Given the description of an element on the screen output the (x, y) to click on. 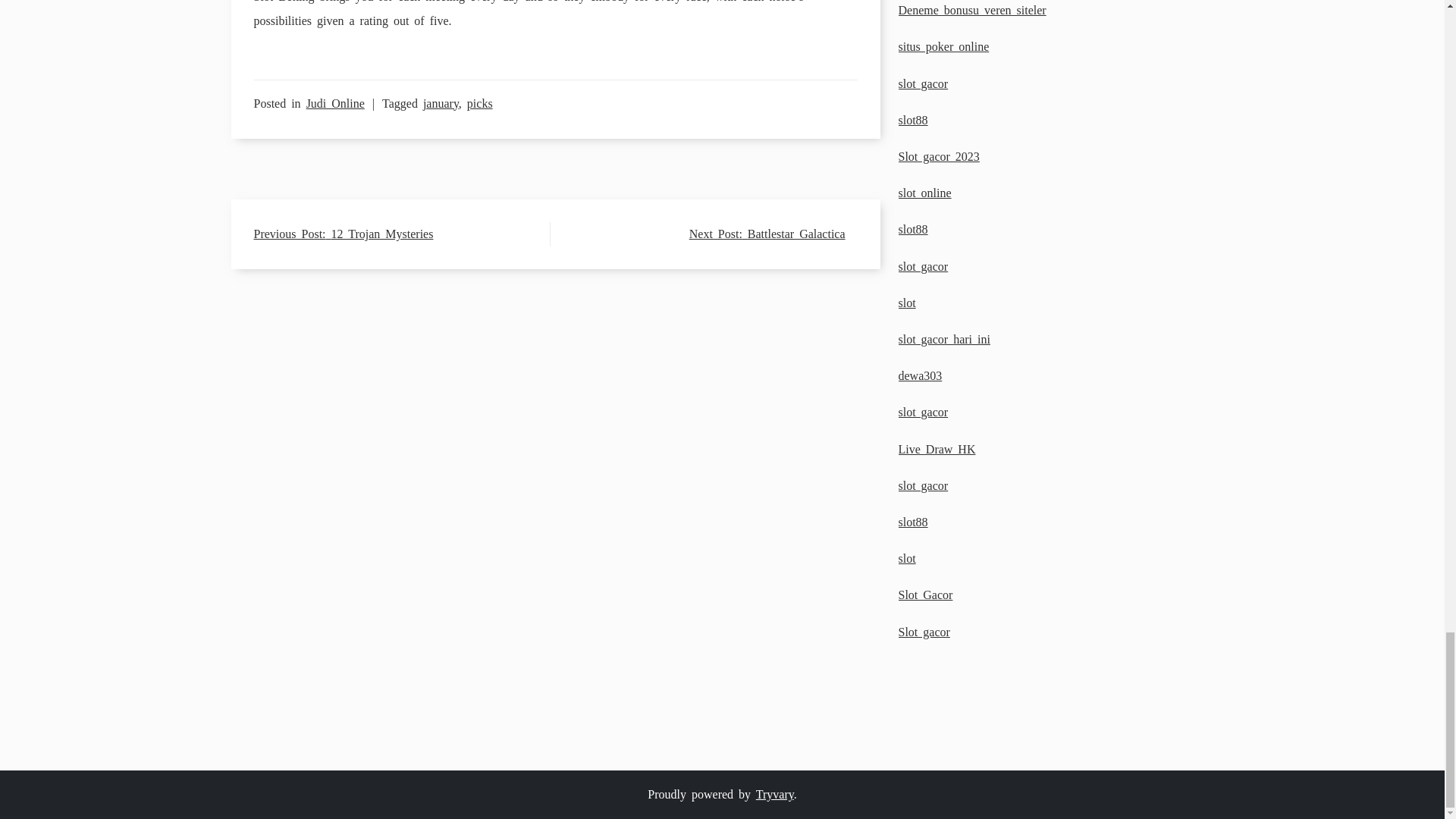
Next Post: Battlestar Galactica (766, 233)
picks (480, 103)
Previous Post: 12 Trojan Mysteries (342, 233)
january (440, 103)
Judi Online (335, 103)
